Given the description of an element on the screen output the (x, y) to click on. 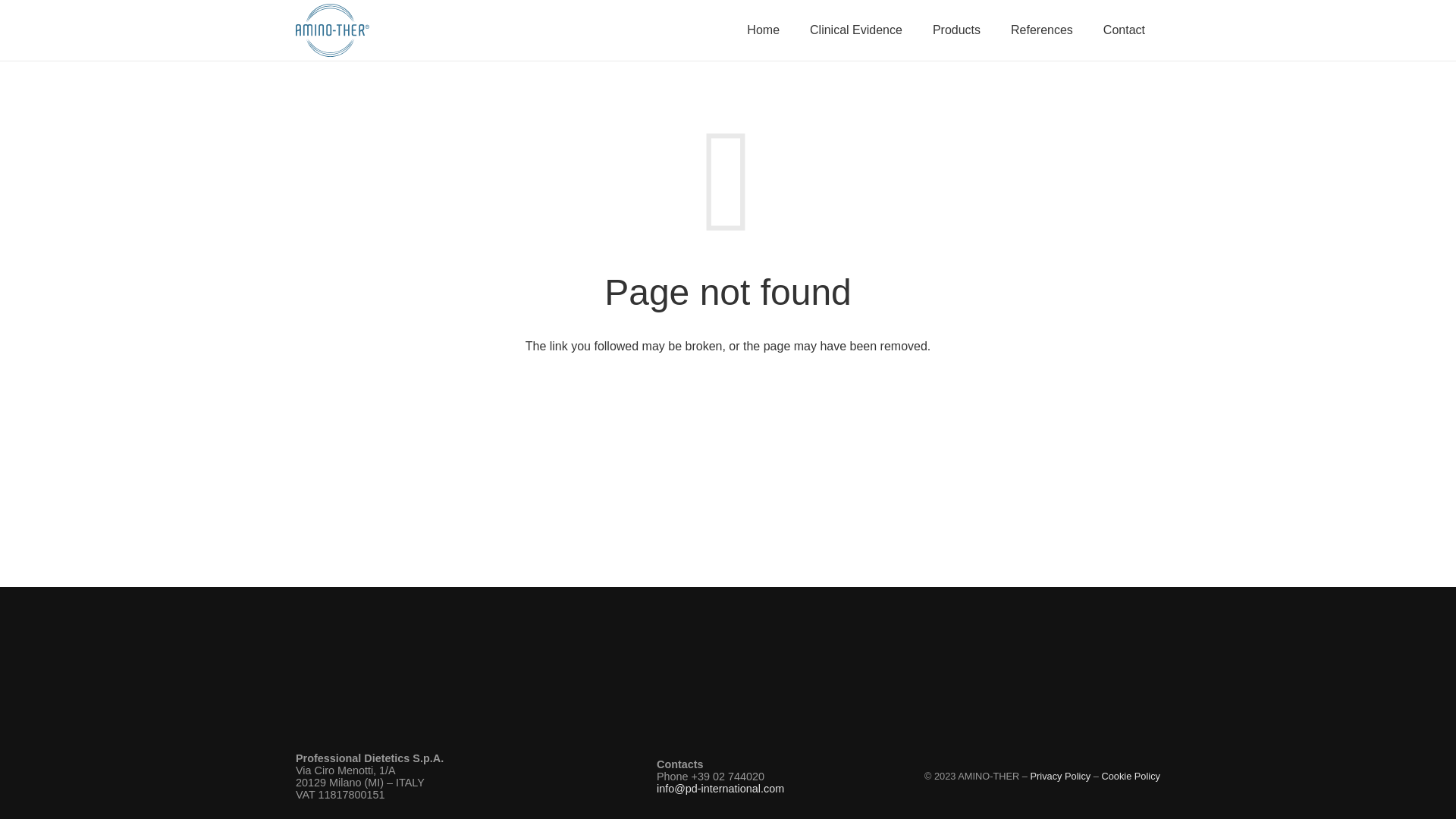
References (1041, 30)
Products (956, 30)
Clinical Evidence (855, 30)
Home (763, 30)
Cookie Policy (1130, 776)
Privacy Policy (1060, 776)
Contact (1123, 30)
